Given the description of an element on the screen output the (x, y) to click on. 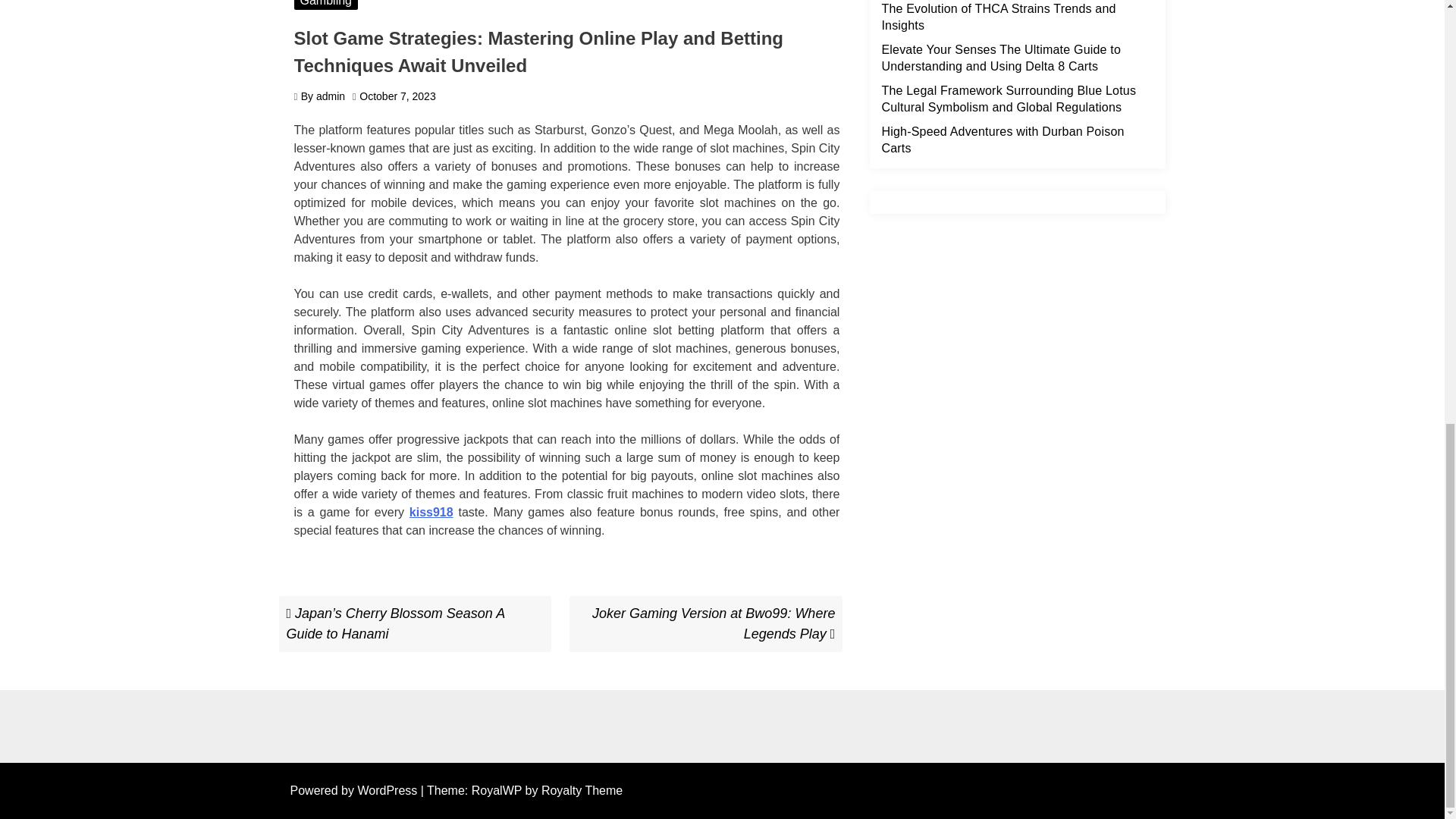
admin (330, 96)
WordPress (388, 789)
Royalty Theme (582, 789)
kiss918 (430, 512)
The Evolution of THCA Strains Trends and Insights (997, 16)
Gambling (326, 4)
High-Speed Adventures with Durban Poison Carts (1002, 139)
October 7, 2023 (397, 96)
